Given the description of an element on the screen output the (x, y) to click on. 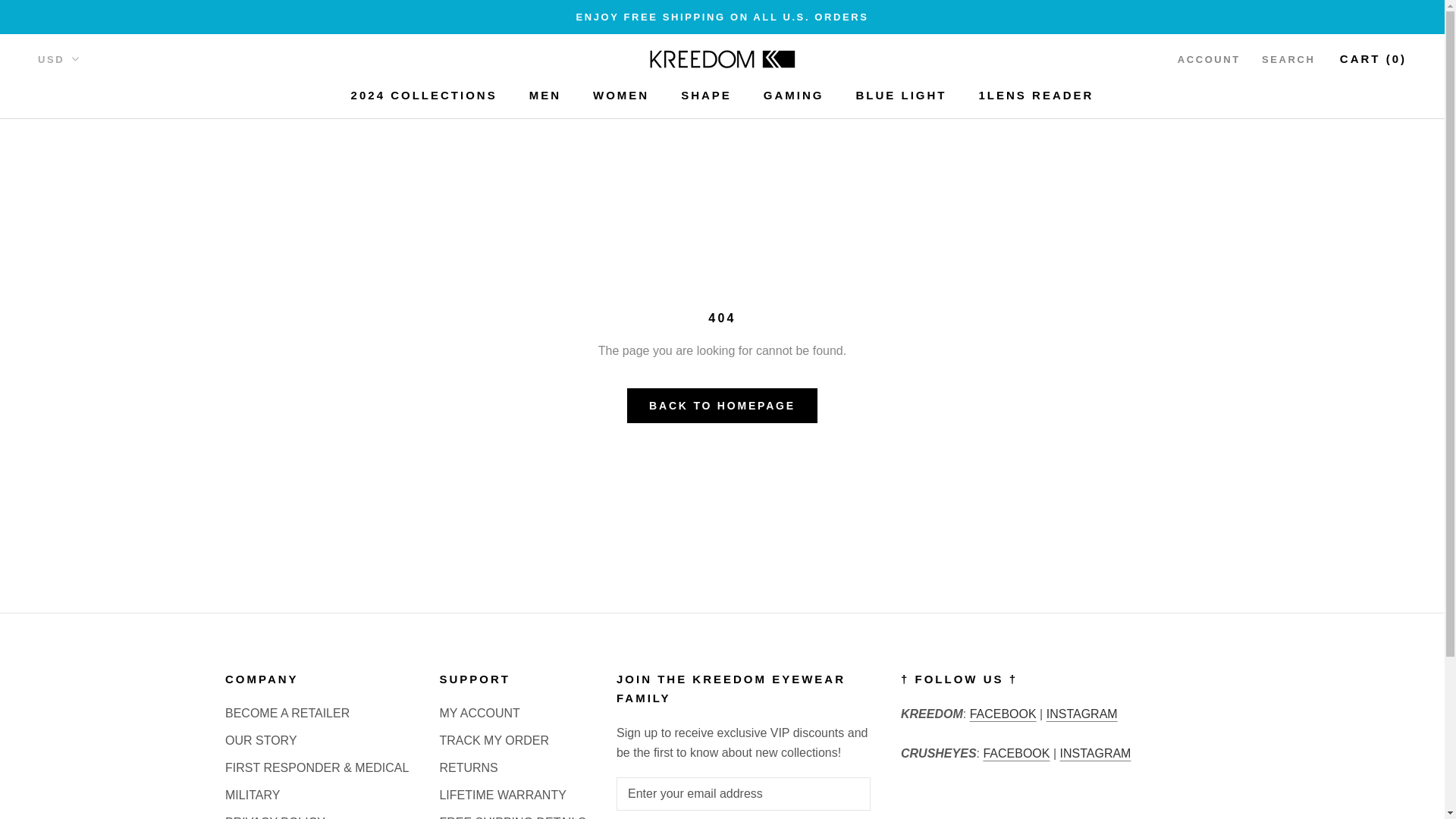
Currency selector (58, 59)
